Given the description of an element on the screen output the (x, y) to click on. 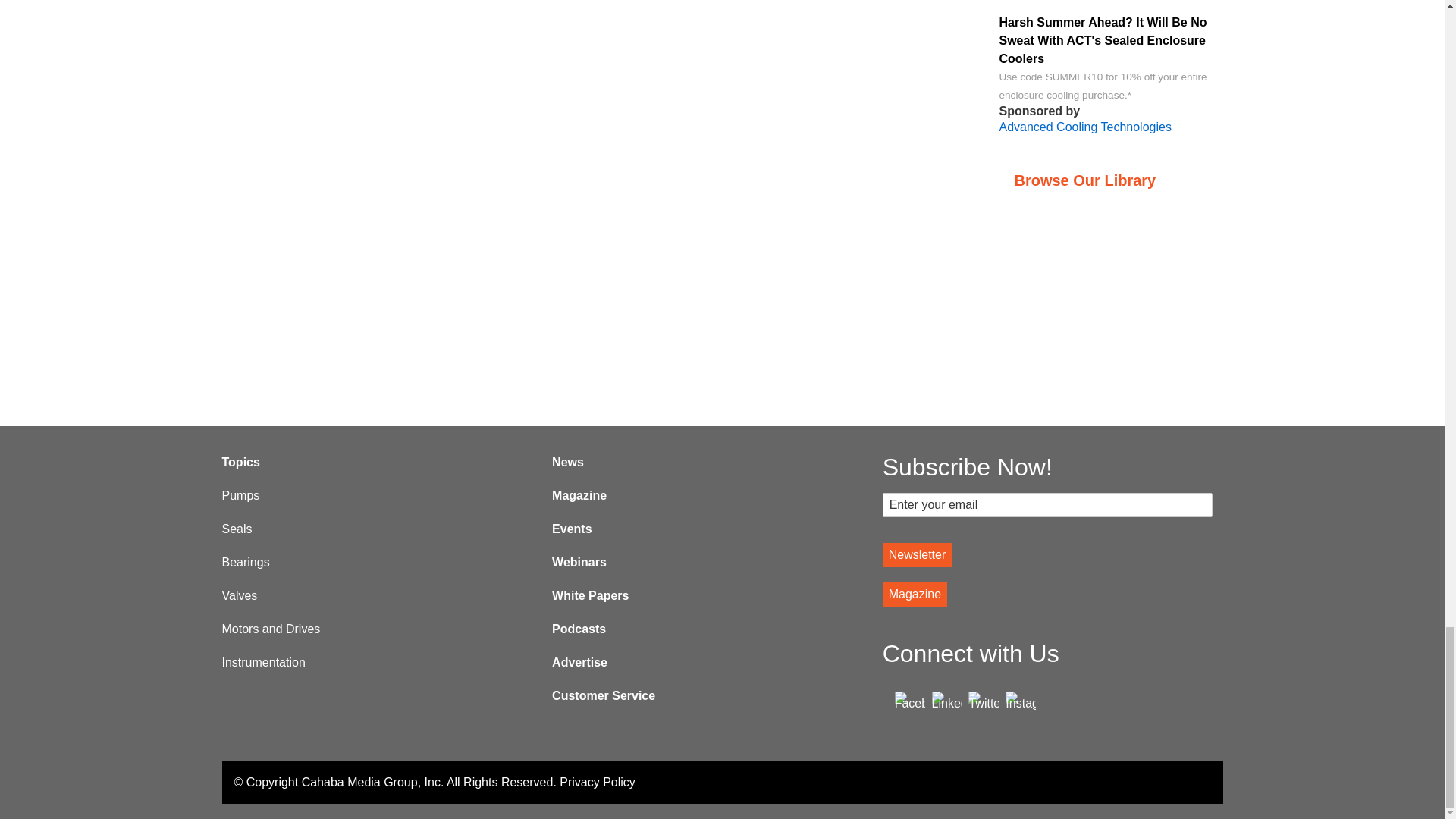
Magazine (914, 594)
Newsletter (917, 554)
